Given the description of an element on the screen output the (x, y) to click on. 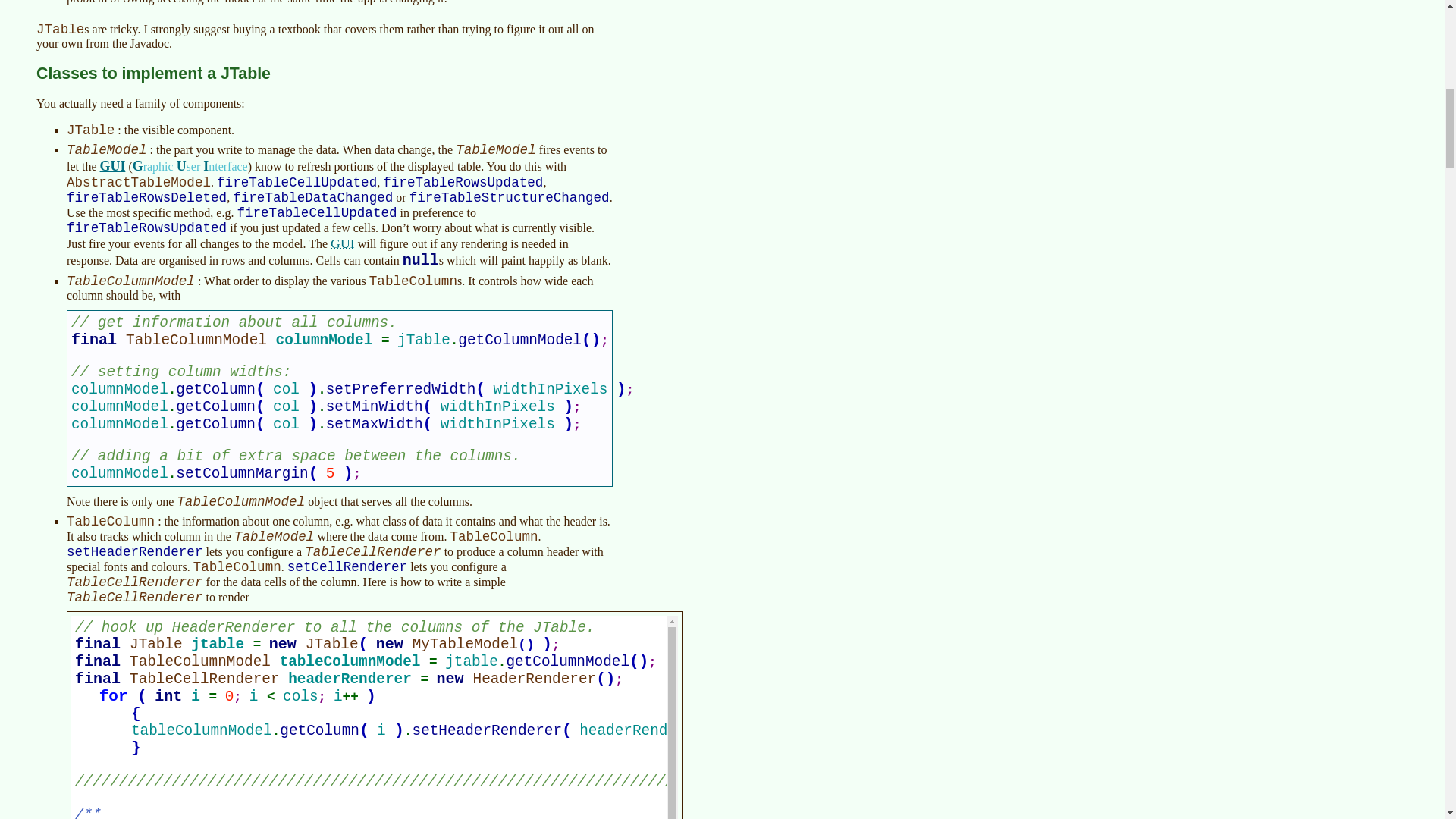
Graphic User Interface (342, 242)
